Given the description of an element on the screen output the (x, y) to click on. 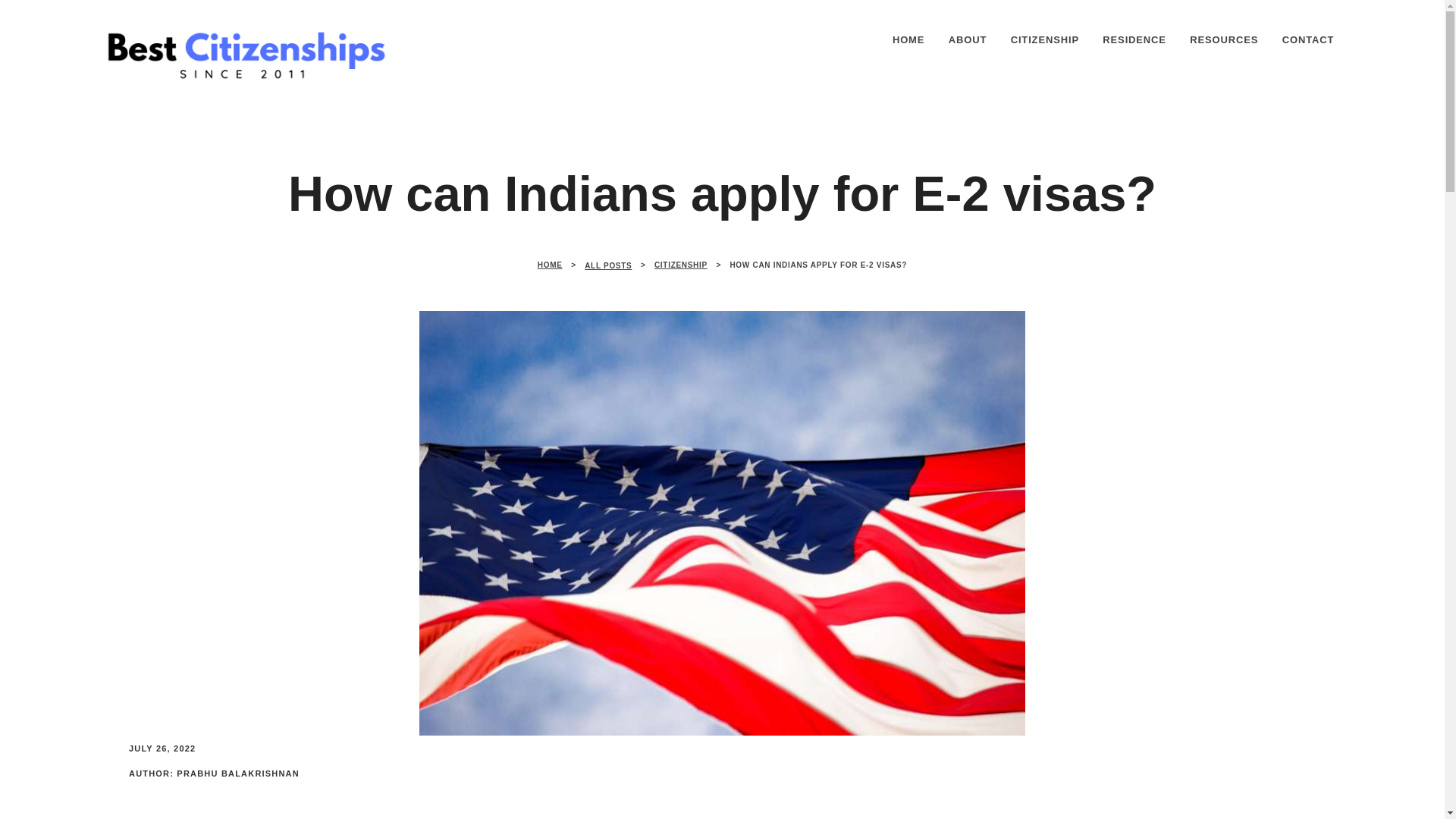
HOME (549, 264)
HOME (908, 39)
ALL POSTS (608, 265)
RESOURCES (1223, 39)
RESIDENCE (1133, 39)
CONTACT (1307, 39)
ABOUT (967, 39)
CITIZENSHIP (1044, 39)
